Given the description of an element on the screen output the (x, y) to click on. 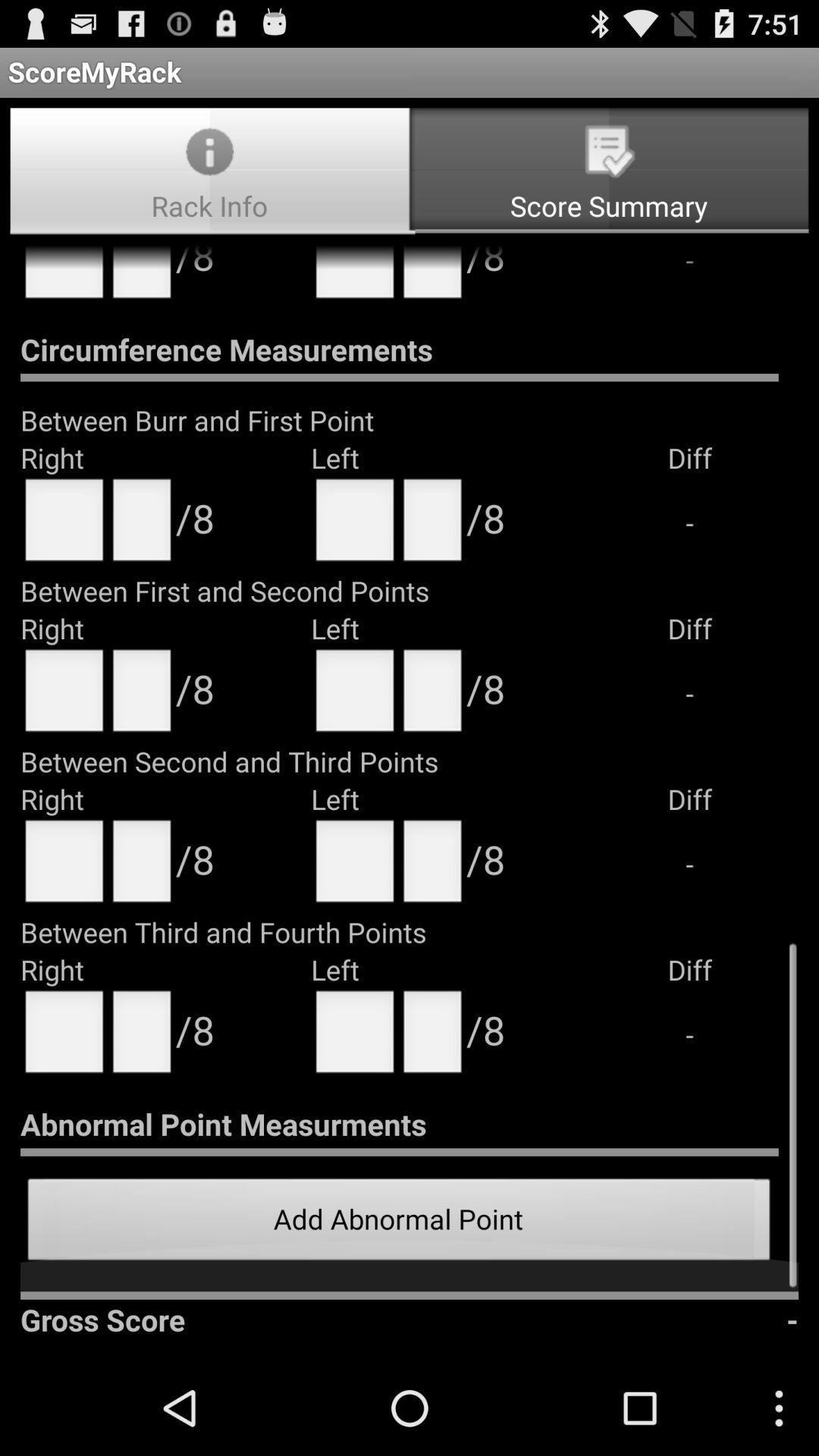
select the second box in right under between second and third points (142, 866)
select the text field before 8 under left in between second and third points (432, 866)
select the text field next to 8 at top of the page (354, 278)
